Given the description of an element on the screen output the (x, y) to click on. 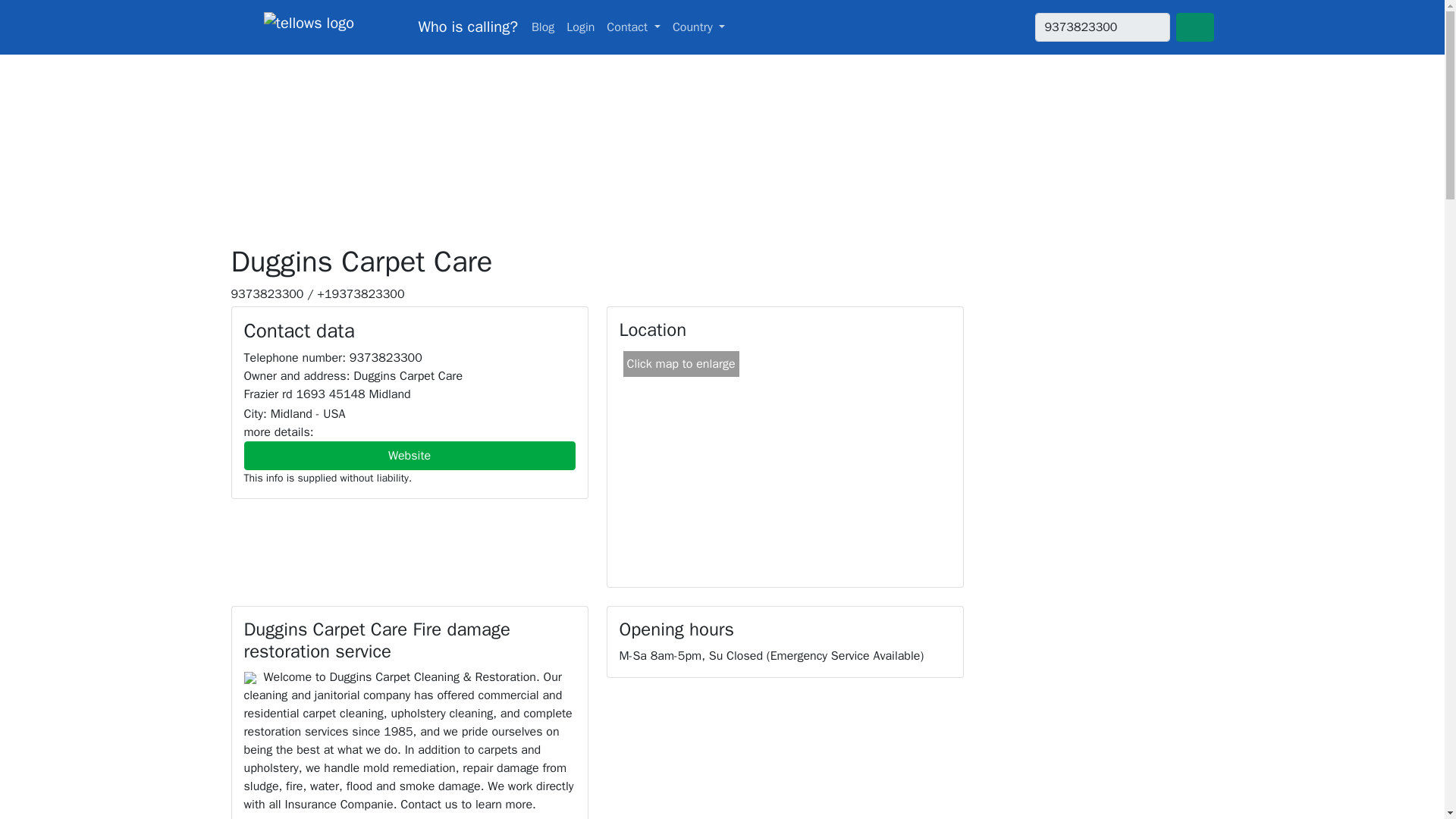
Contact (632, 27)
Who is calling? (373, 26)
9373823300 (1101, 27)
Website (409, 455)
tellows - the community for calls, phone spam and complaints (373, 26)
Blog (542, 27)
Login (579, 27)
Blog (542, 27)
Country (699, 27)
